Given the description of an element on the screen output the (x, y) to click on. 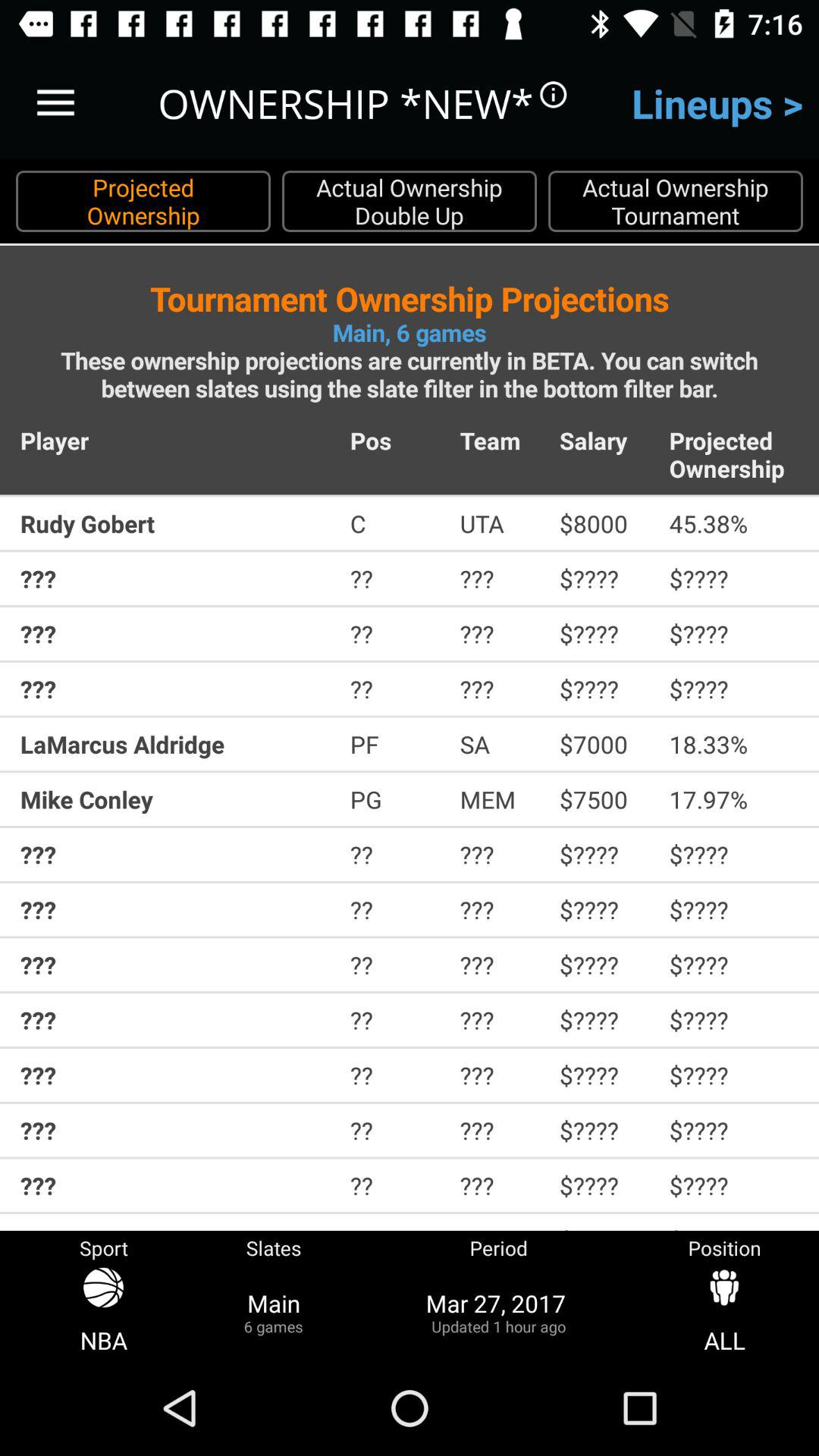
open item above mike conley item (175, 744)
